Given the description of an element on the screen output the (x, y) to click on. 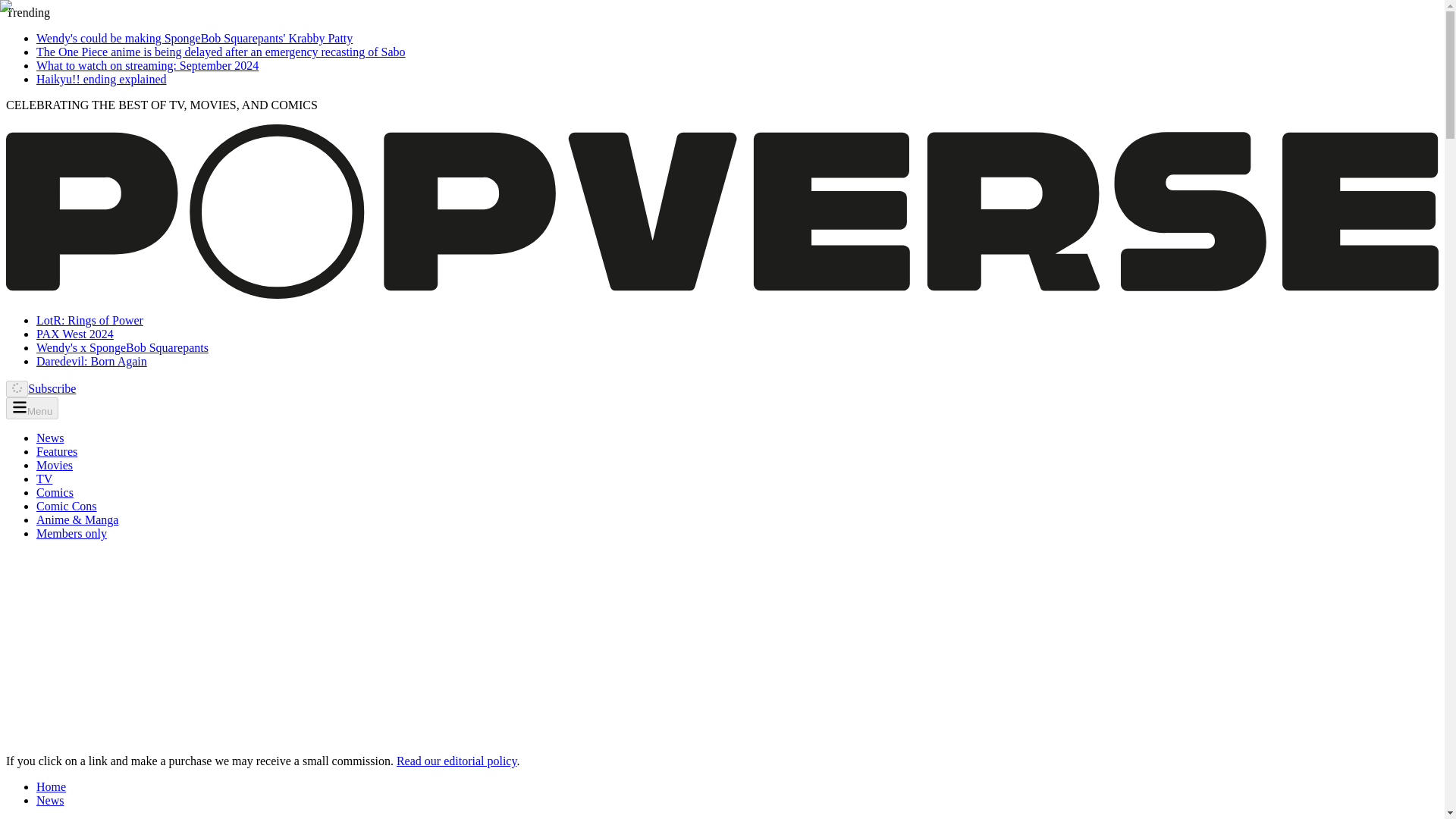
Home (50, 786)
Comics (55, 492)
Wendy's could be making SpongeBob Squarepants' Krabby Patty (194, 38)
TV (44, 478)
Home (50, 786)
TV (44, 478)
Haikyu!! ending explained (101, 78)
Subscribe (51, 388)
What to watch on streaming: September 2024 (147, 65)
